Given the description of an element on the screen output the (x, y) to click on. 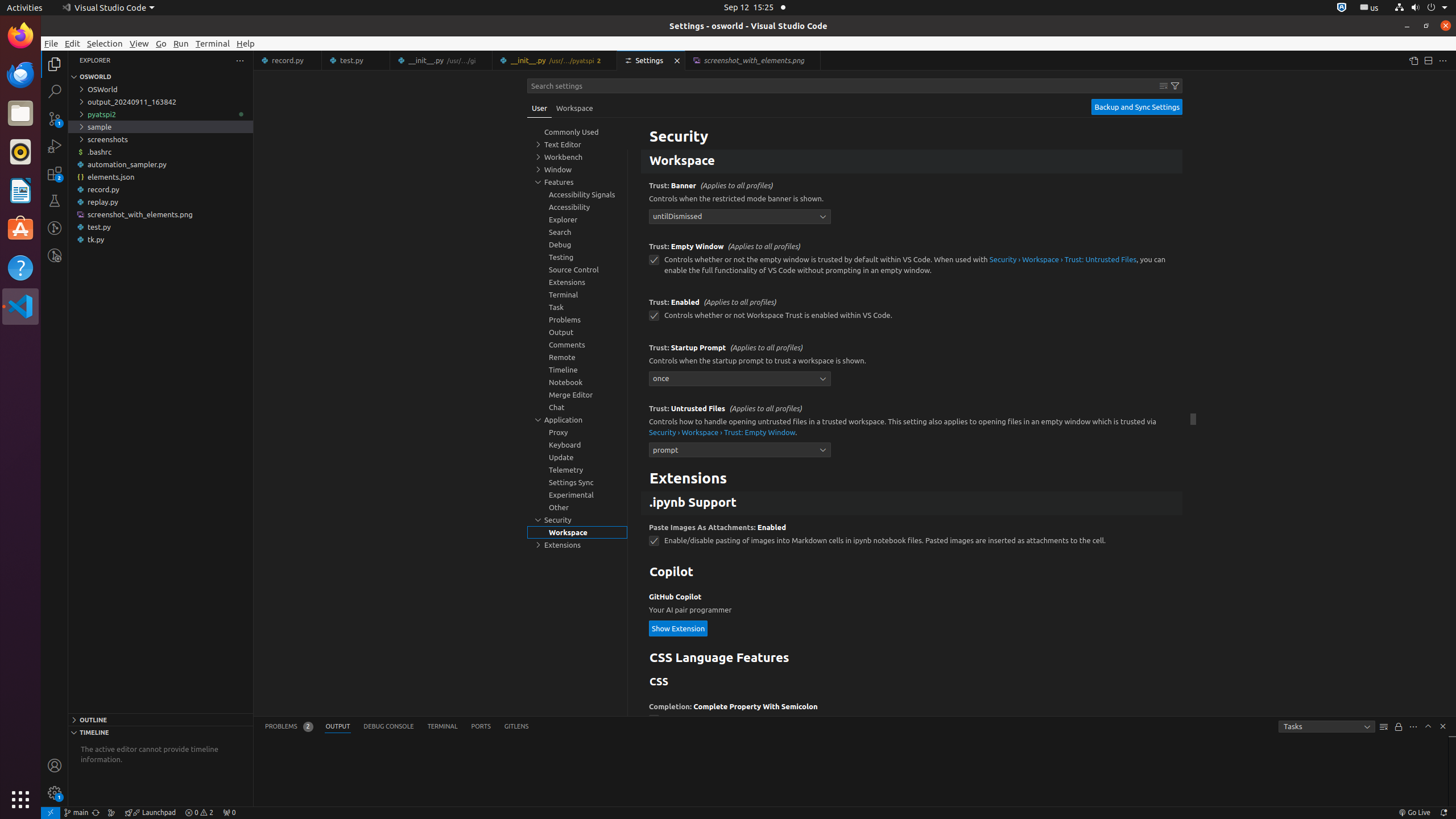
Accounts Element type: push-button (54, 765)
Completion Complete Property With Semicolon. Insert semicolon at end of line when completing CSS properties.  Element type: tree-item (911, 716)
No Ports Forwarded Element type: push-button (228, 812)
test.py Element type: page-tab (355, 60)
ipynb.pasteImagesAsAttachments.enabled Element type: check-box (653, 540)
